Given the description of an element on the screen output the (x, y) to click on. 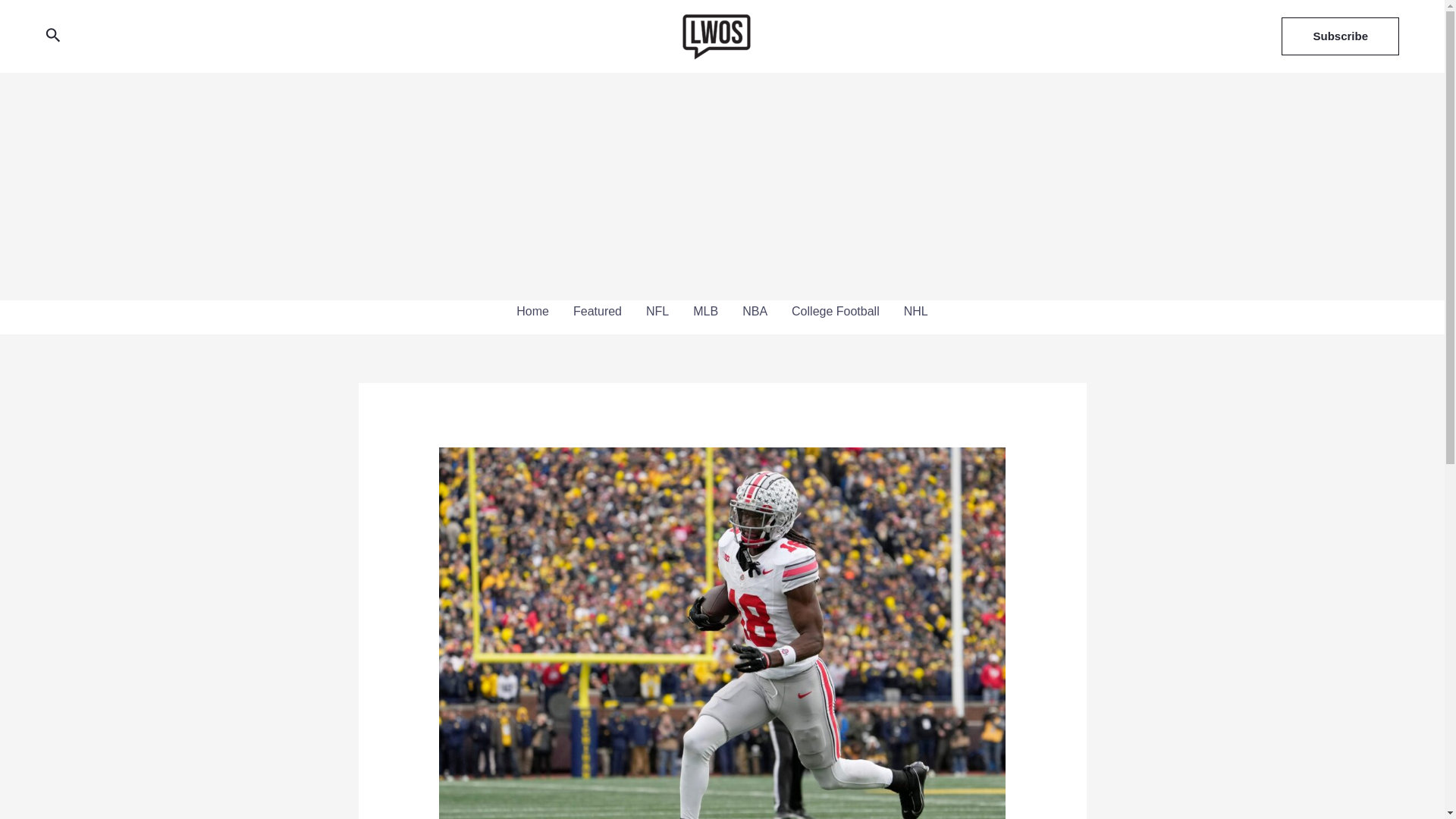
NBA (754, 311)
NFL (657, 311)
NHL (915, 311)
MLB (705, 311)
Home (531, 311)
College Football (834, 311)
Subscribe (1340, 36)
Featured (596, 311)
